Given the description of an element on the screen output the (x, y) to click on. 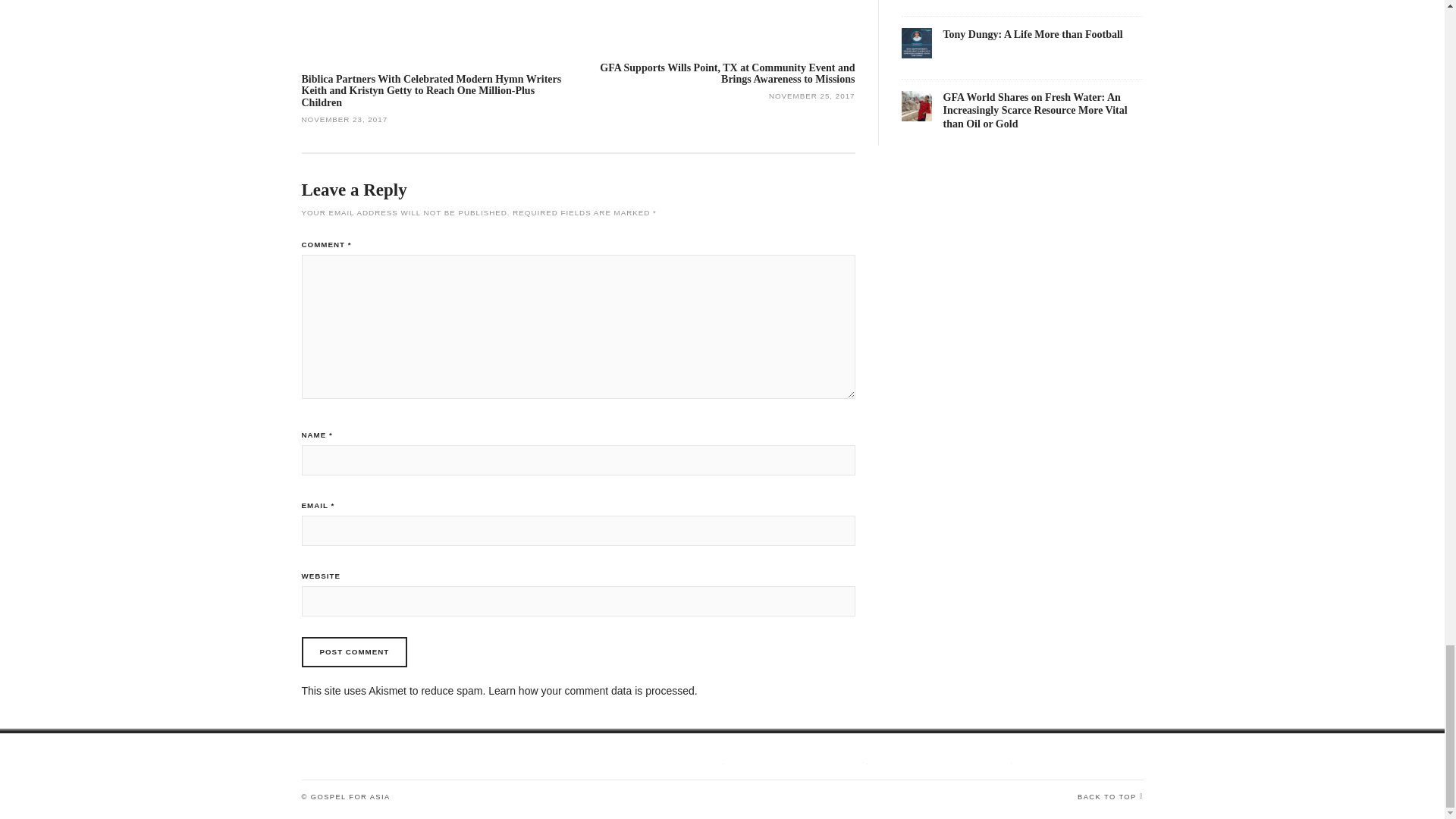
Post Comment (354, 652)
